Given the description of an element on the screen output the (x, y) to click on. 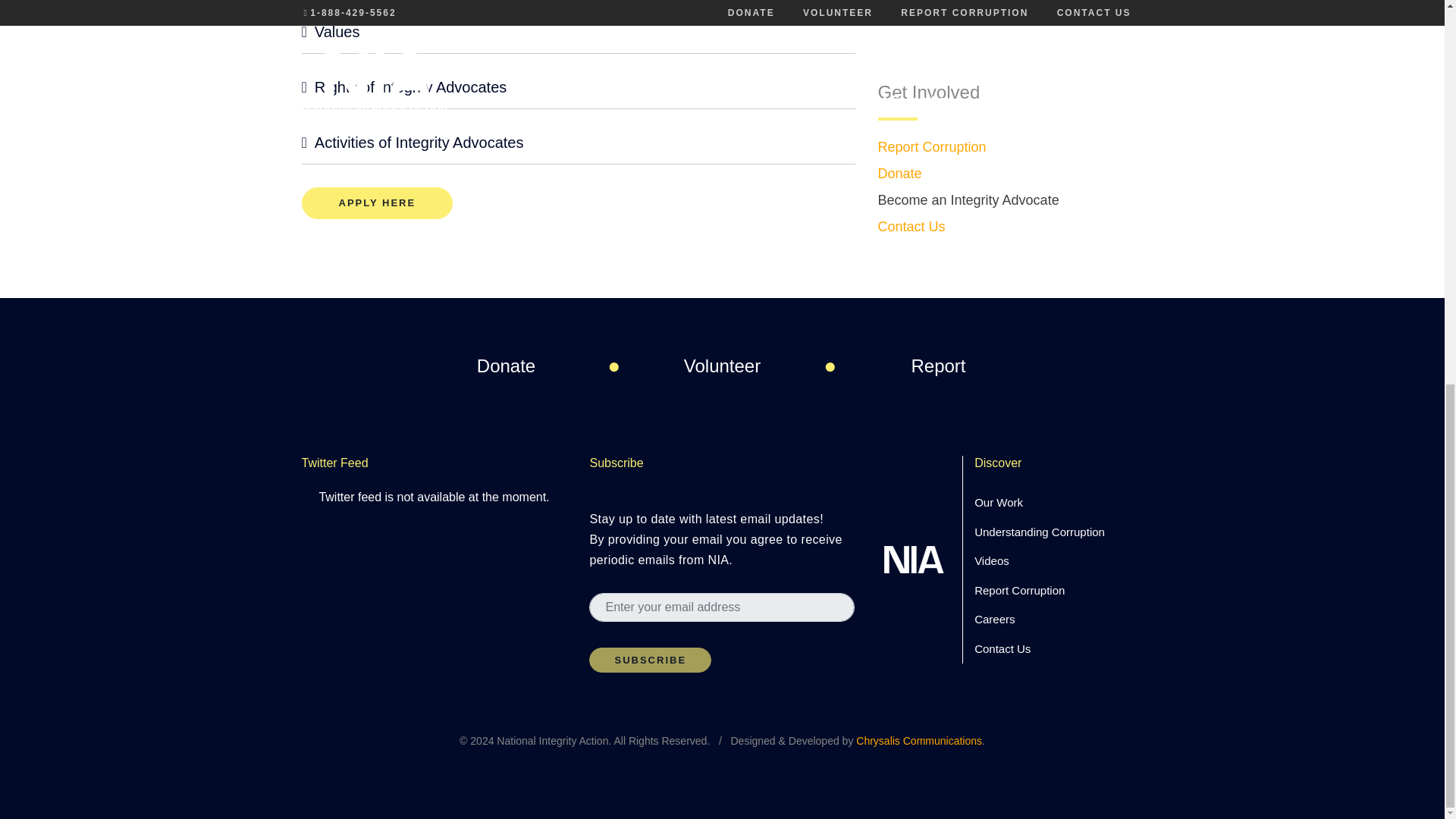
Subscribe (650, 659)
